Given the description of an element on the screen output the (x, y) to click on. 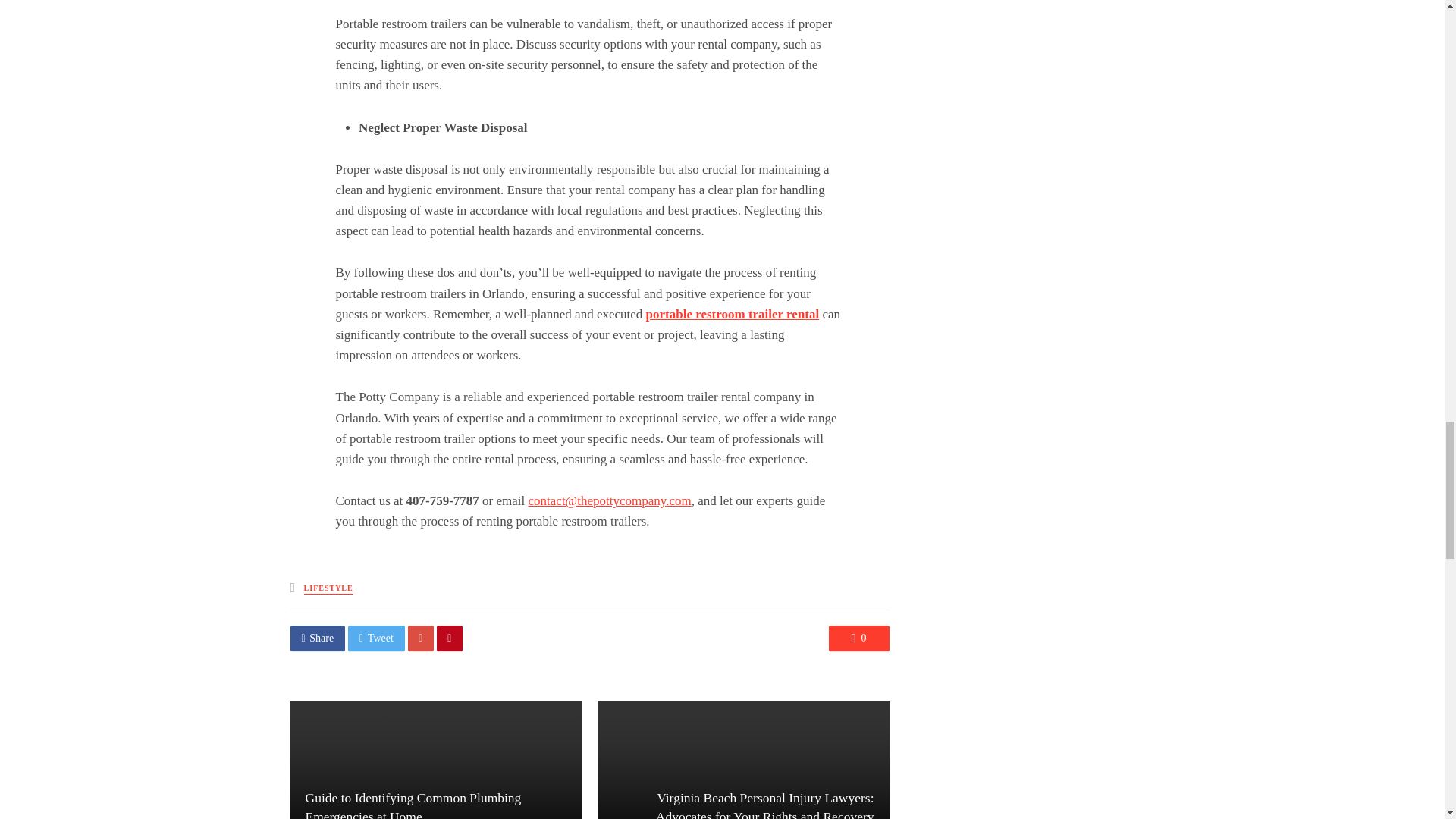
0 Comments (858, 638)
Share on Facebook (317, 638)
Share (317, 638)
LIFESTYLE (328, 588)
0 (858, 638)
Share on Twitter (375, 638)
Tweet (375, 638)
portable restroom trailer rental (732, 314)
Share on Pinterest (449, 638)
